Given the description of an element on the screen output the (x, y) to click on. 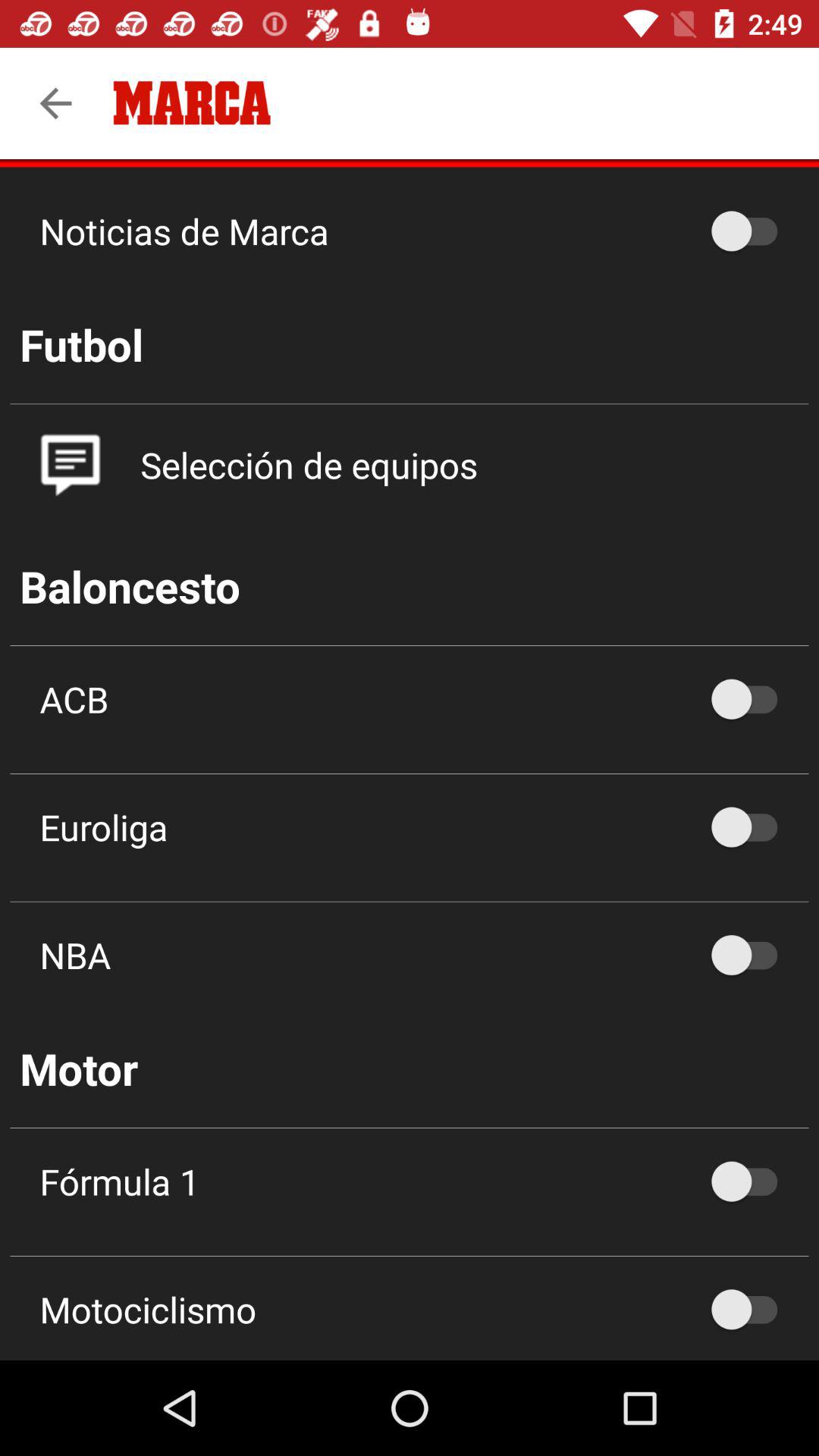
switch to or from motociclismo mode (751, 1309)
